Given the description of an element on the screen output the (x, y) to click on. 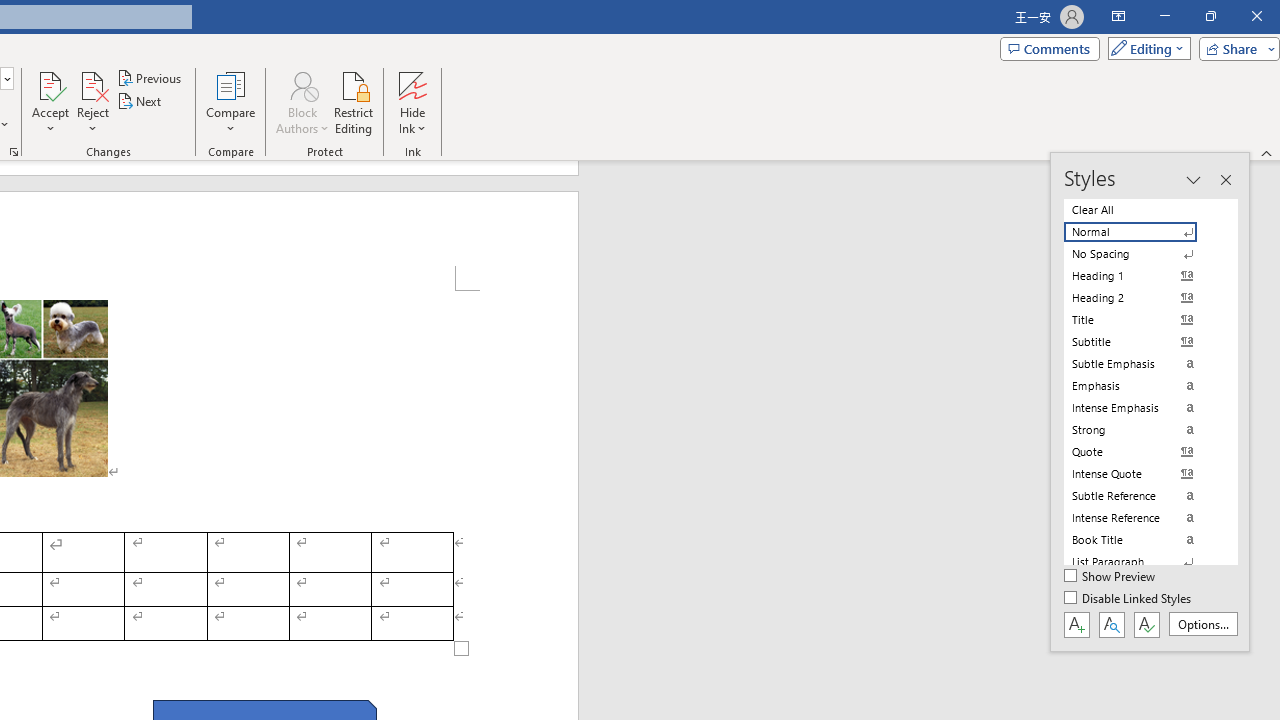
Accept (50, 102)
Options... (1202, 623)
Hide Ink (412, 84)
Quote (1142, 451)
Intense Emphasis (1142, 407)
Clear All (1142, 209)
List Paragraph (1142, 561)
Heading 1 (1142, 275)
Open (6, 78)
Reject and Move to Next (92, 84)
Block Authors (302, 102)
Block Authors (302, 84)
Intense Quote (1142, 473)
Normal (1142, 232)
